Given the description of an element on the screen output the (x, y) to click on. 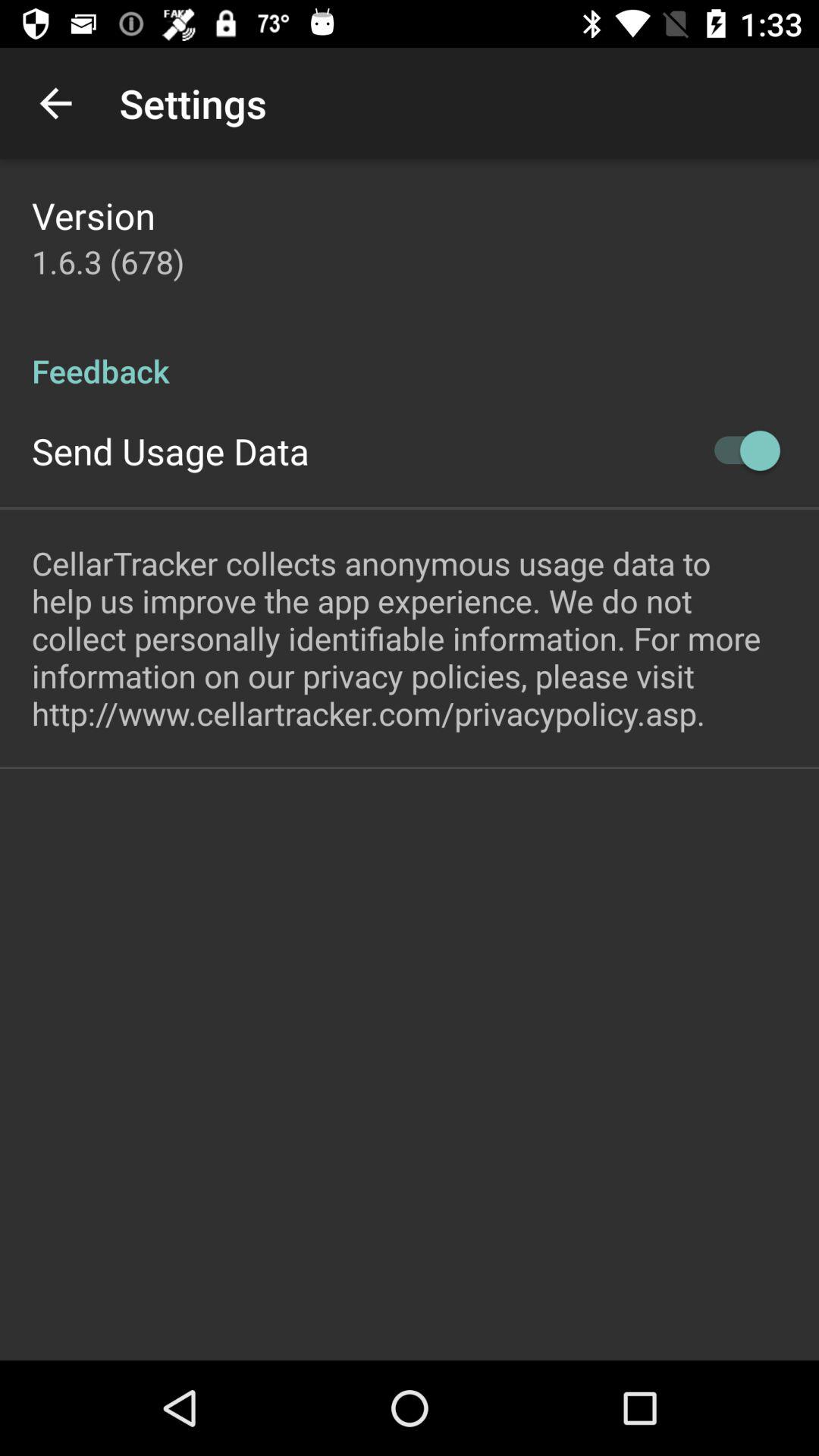
turn off item to the right of send usage data icon (739, 450)
